Given the description of an element on the screen output the (x, y) to click on. 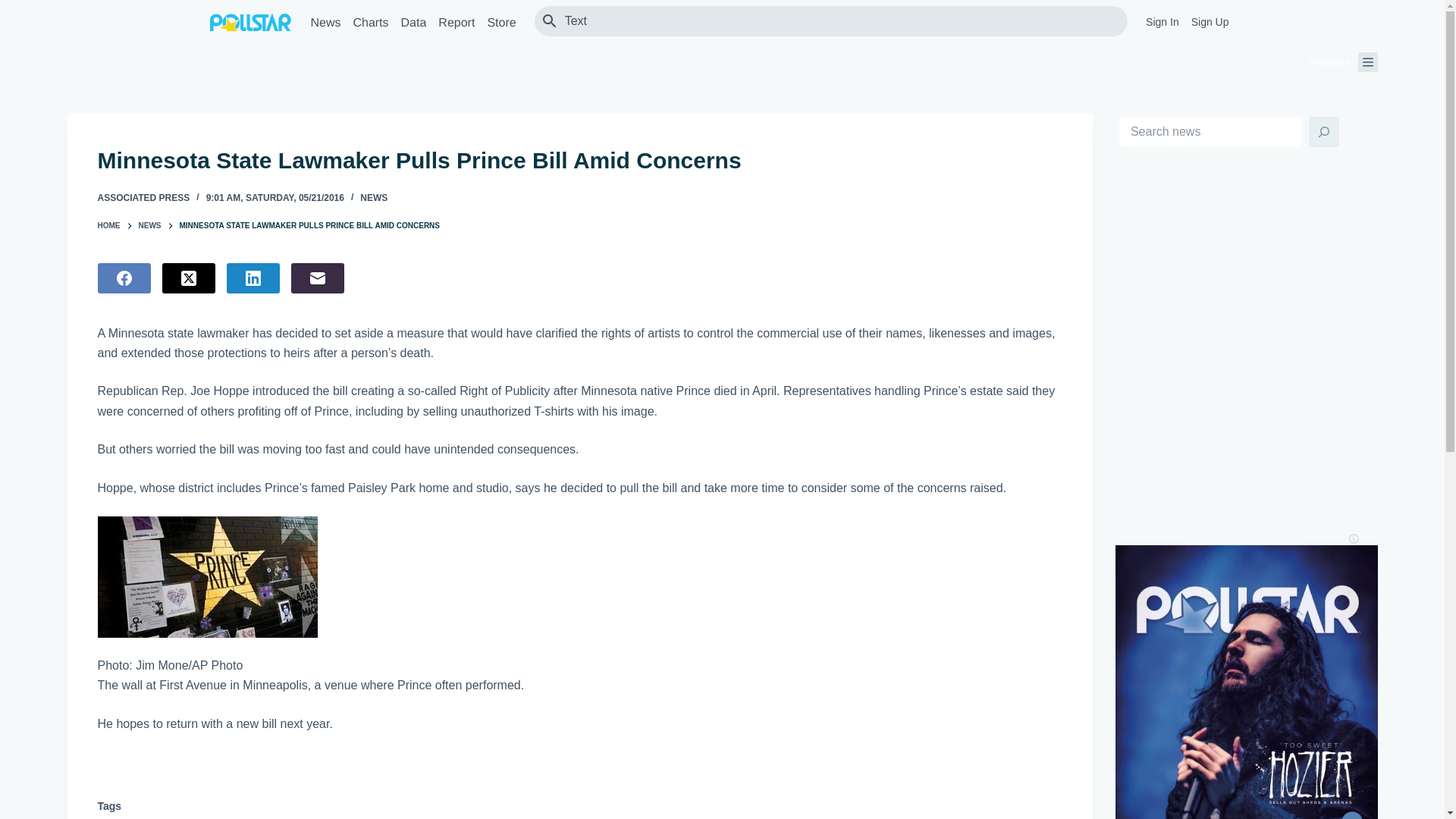
Text (838, 20)
Skip to content (15, 7)
Minnesota State Lawmaker Pulls Prince Bill Amid Concerns (579, 160)
Text (838, 20)
